Given the description of an element on the screen output the (x, y) to click on. 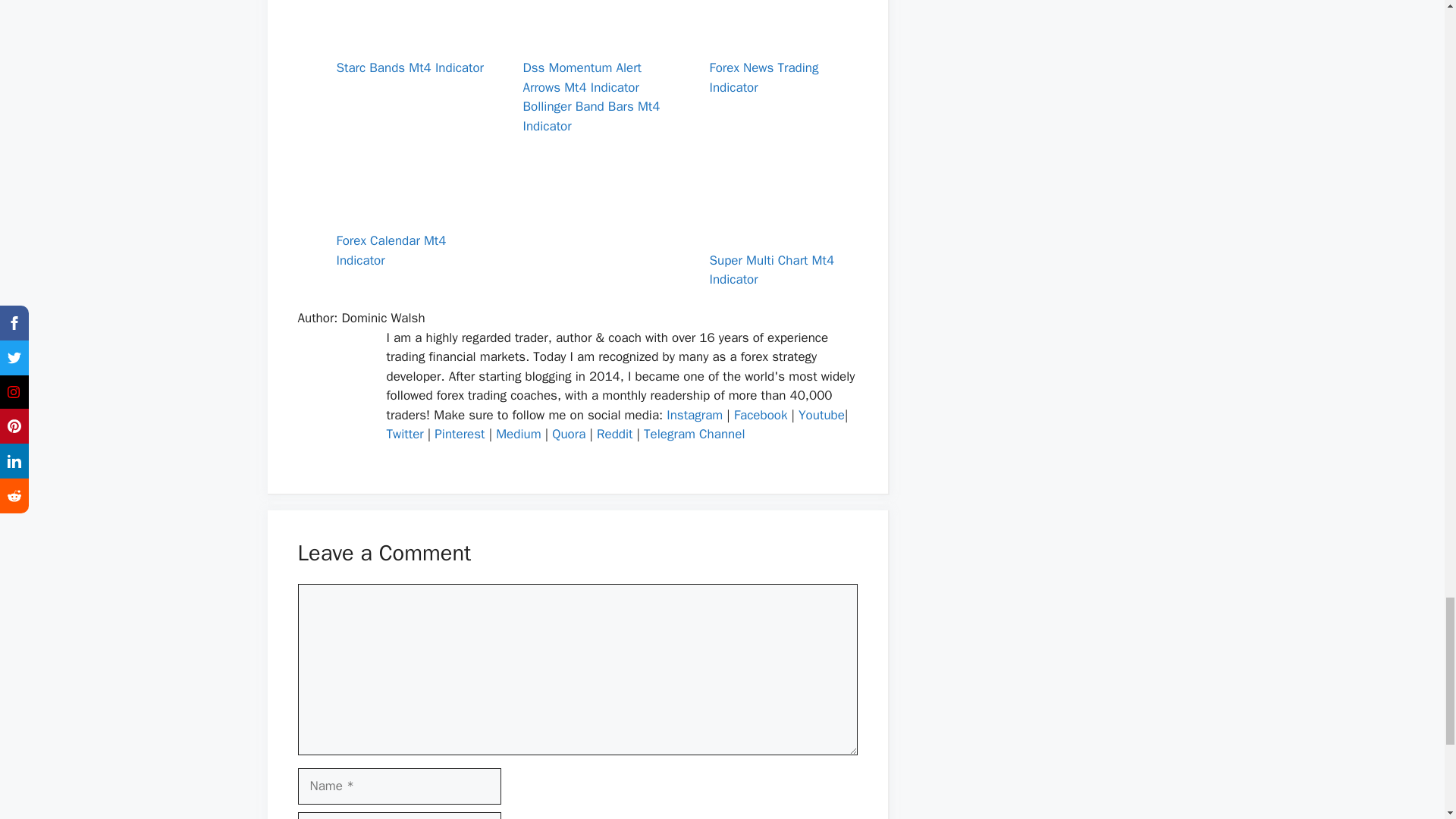
Super Multi Chart Mt4 Indicator (783, 259)
Dss Momentum Alert Arrows Mt4 Indicator (596, 67)
Instagram (694, 415)
Bollinger Band Bars Mt4 Indicator (591, 116)
Forex News Trading Indicator (783, 67)
Forex Calendar Mt4 Indicator (410, 240)
Starc Bands Mt4 Indicator (410, 58)
